Given the description of an element on the screen output the (x, y) to click on. 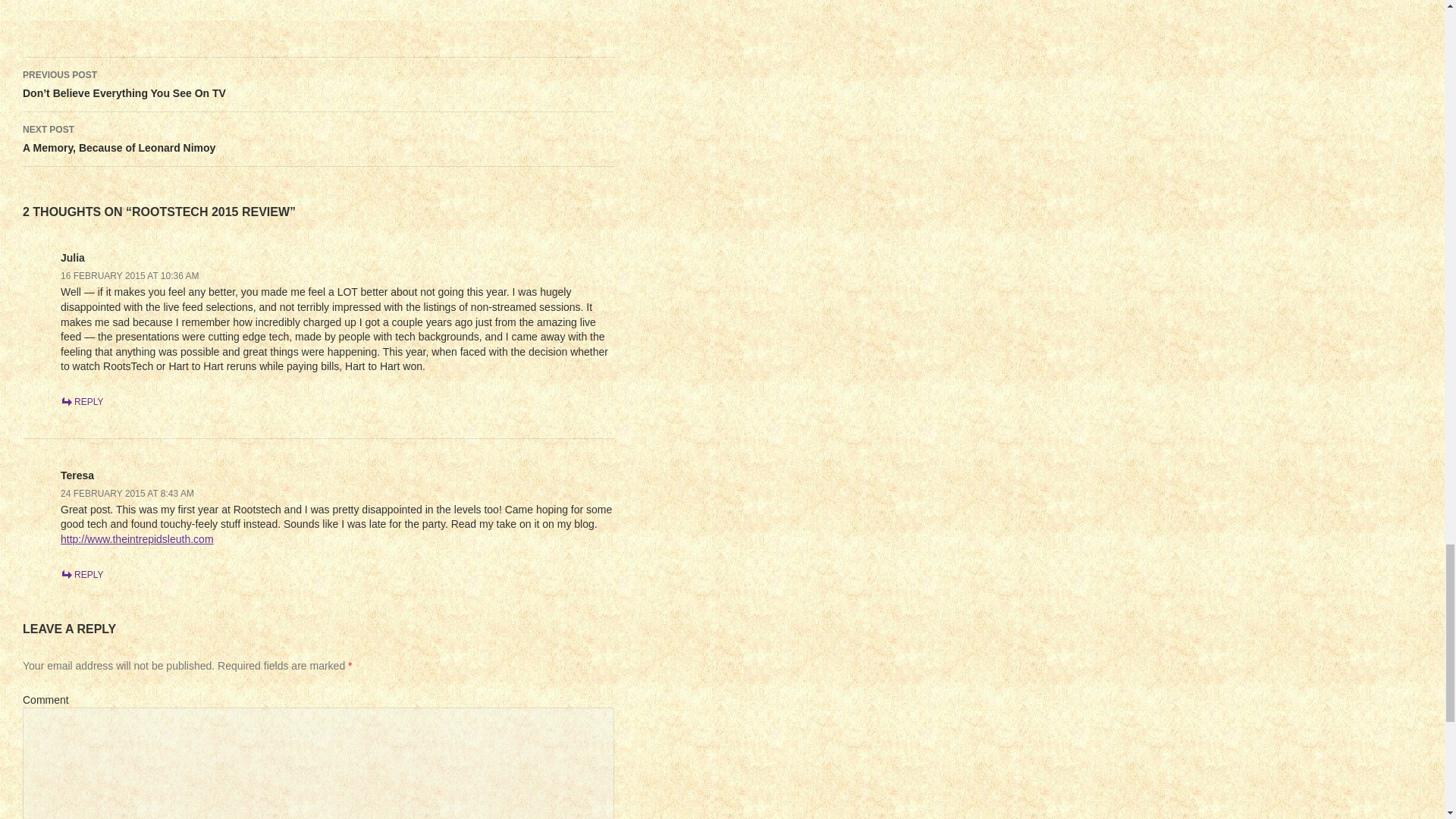
16 FEBRUARY 2015 AT 10:36 AM (130, 276)
REPLY (82, 401)
24 FEBRUARY 2015 AT 8:43 AM (318, 139)
REPLY (127, 493)
Teresa (82, 574)
